Given the description of an element on the screen output the (x, y) to click on. 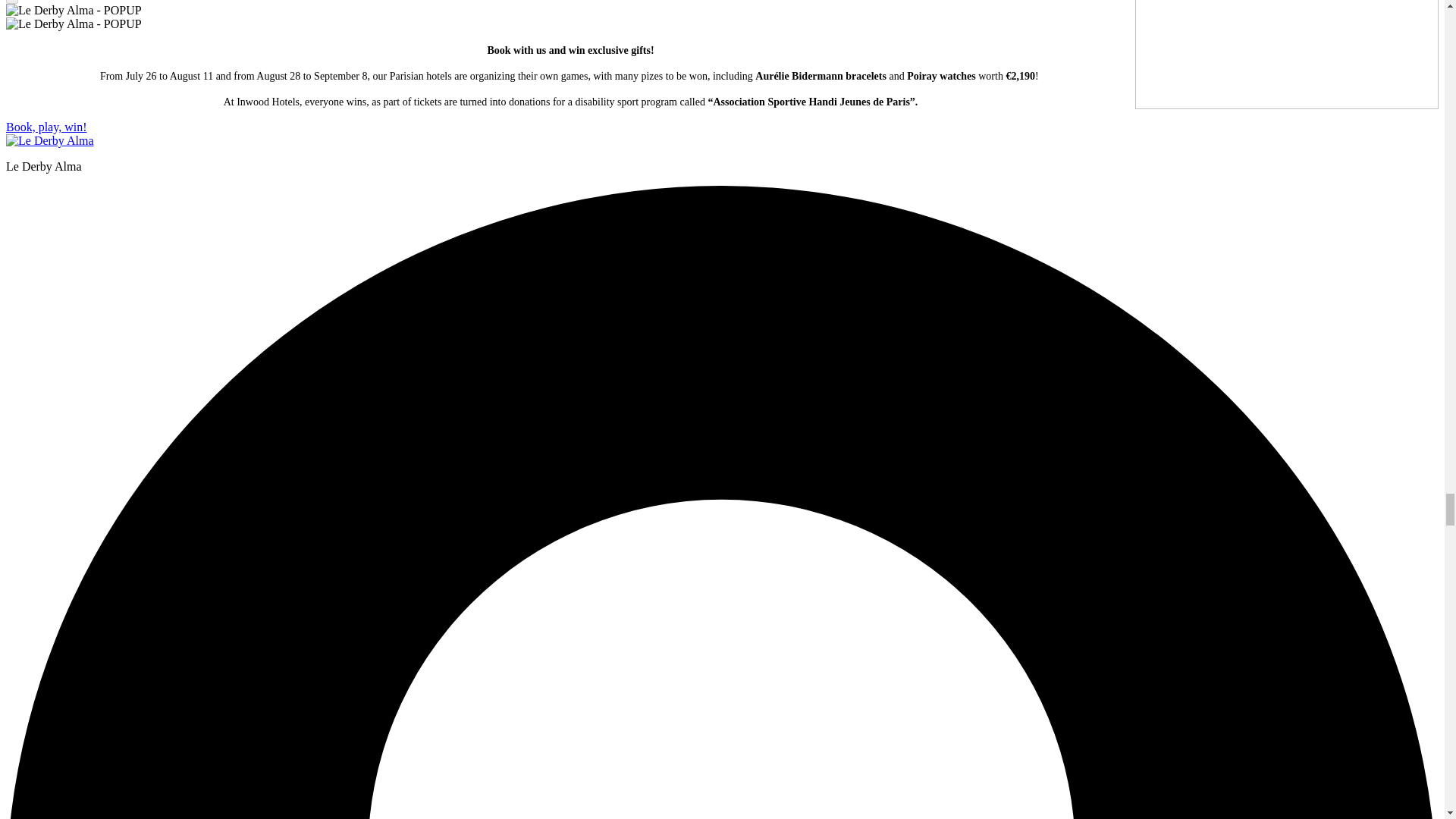
Close (11, 2)
Book, play, win! (46, 126)
